Given the description of an element on the screen output the (x, y) to click on. 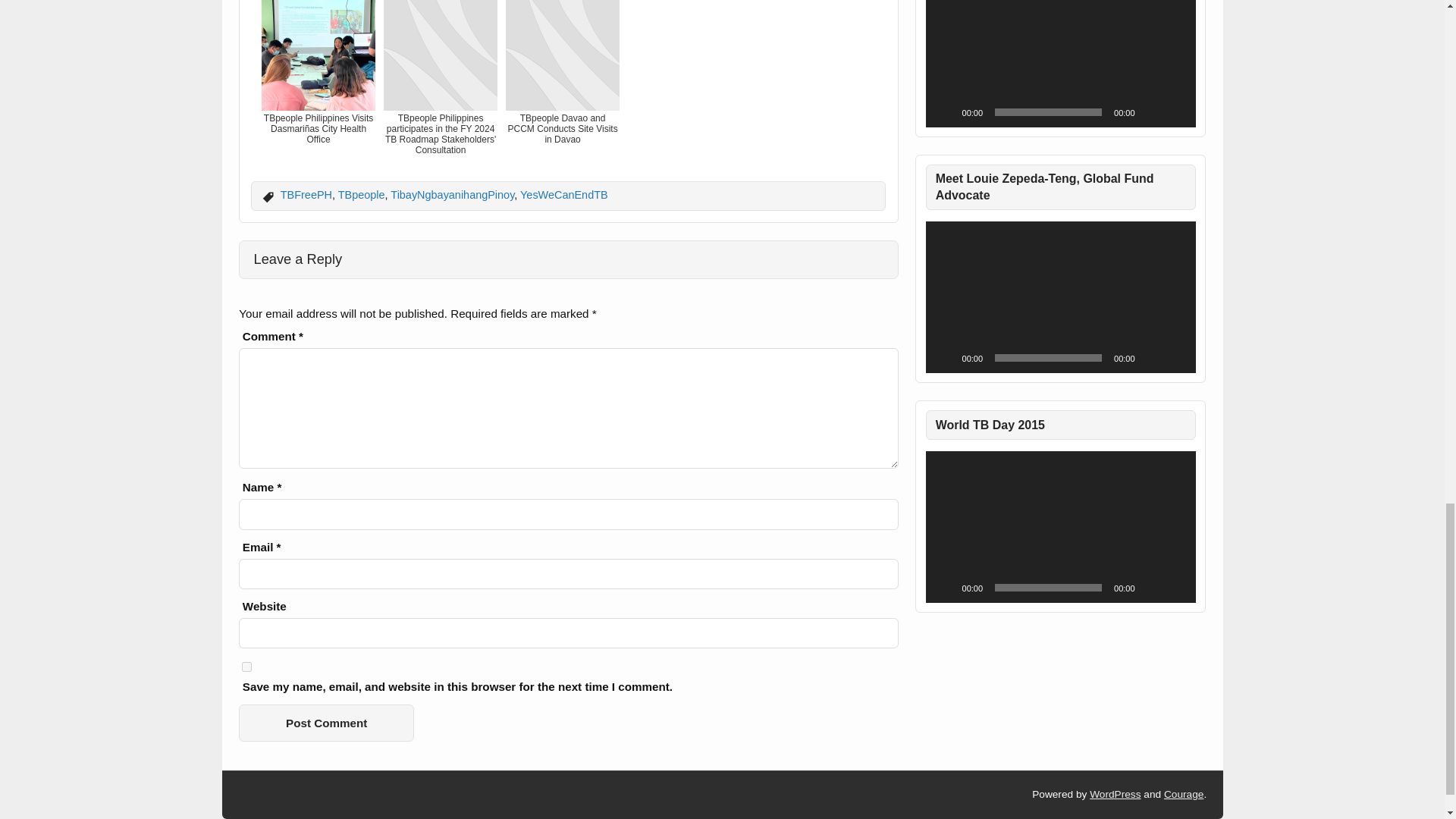
Post Comment (325, 723)
Fullscreen (1176, 357)
Play (945, 357)
Play (945, 587)
Mute (1151, 111)
WordPress (1114, 794)
yes (246, 666)
Fullscreen (1176, 587)
Mute (1151, 587)
Play (945, 111)
Fullscreen (1176, 111)
Courage WordPress Theme (1183, 794)
Mute (1151, 357)
